Given the description of an element on the screen output the (x, y) to click on. 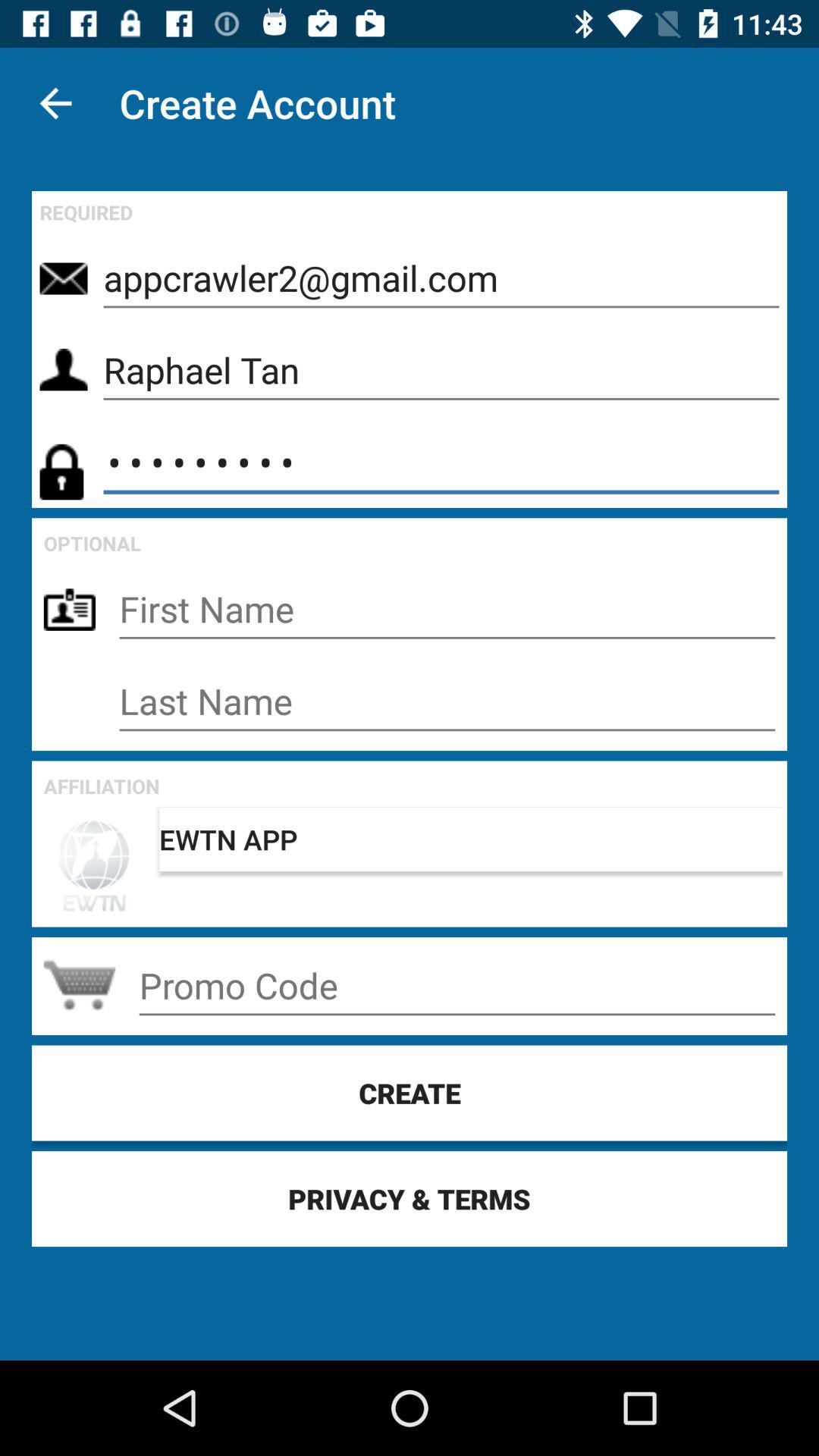
open app to the left of the create account icon (55, 103)
